Given the description of an element on the screen output the (x, y) to click on. 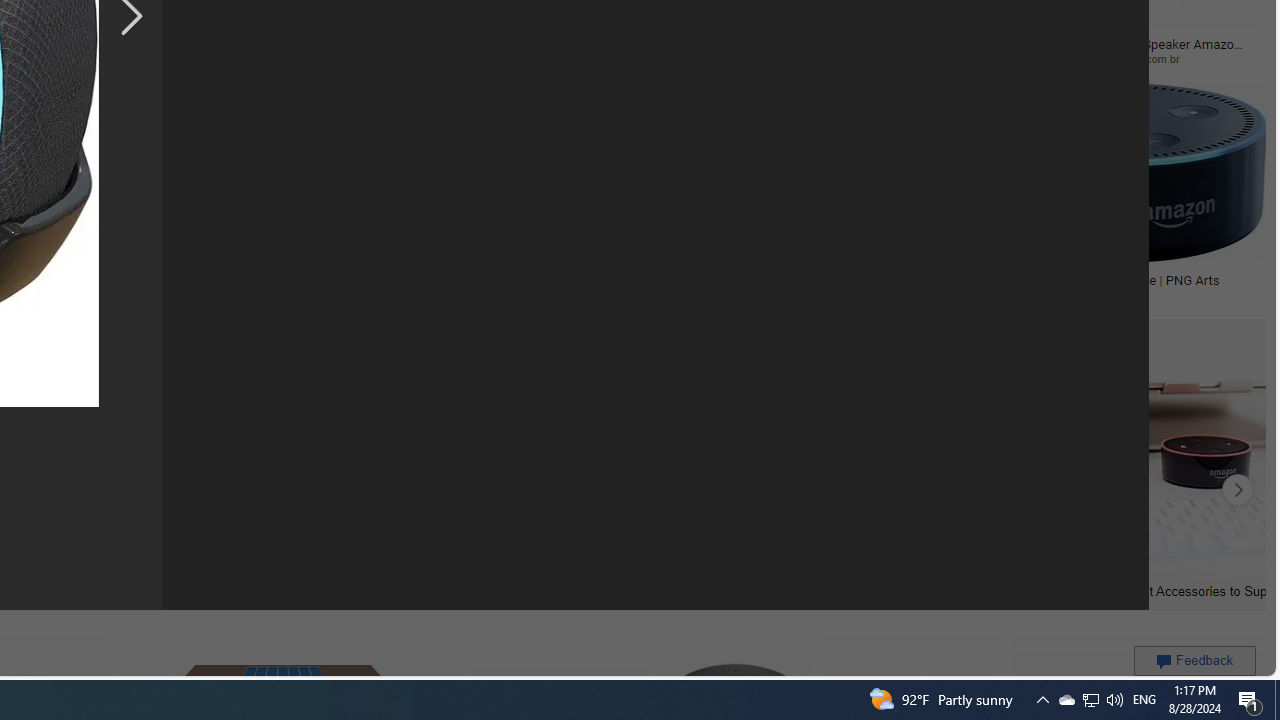
Echo Dot Accessories (175, 589)
Best Amazon Echo Dot Accessories for 2024 (437, 589)
Amazonecho Dot With Alexa (Gen 4) (812, 279)
inpower.com.br (1181, 58)
pngkey.com (139, 57)
pngarts.com (1026, 294)
Amazon Echo - Always ready, connected and fast. Just ask. (603, 286)
Alexa Dot Transparent Image | PNG Arts (1104, 279)
winmaec.com (740, 58)
